Given the description of an element on the screen output the (x, y) to click on. 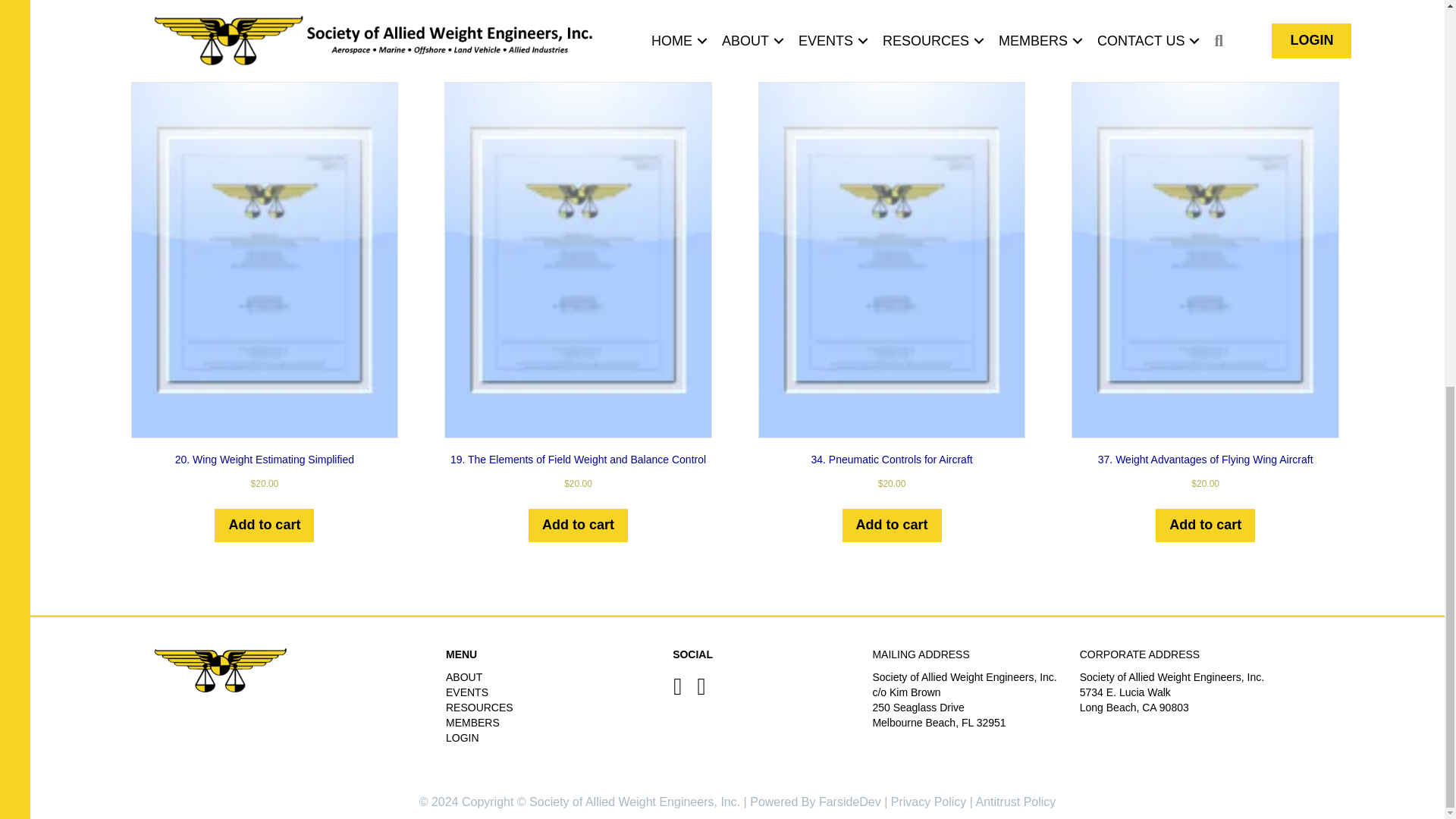
Technical Paper (422, 13)
